Given the description of an element on the screen output the (x, y) to click on. 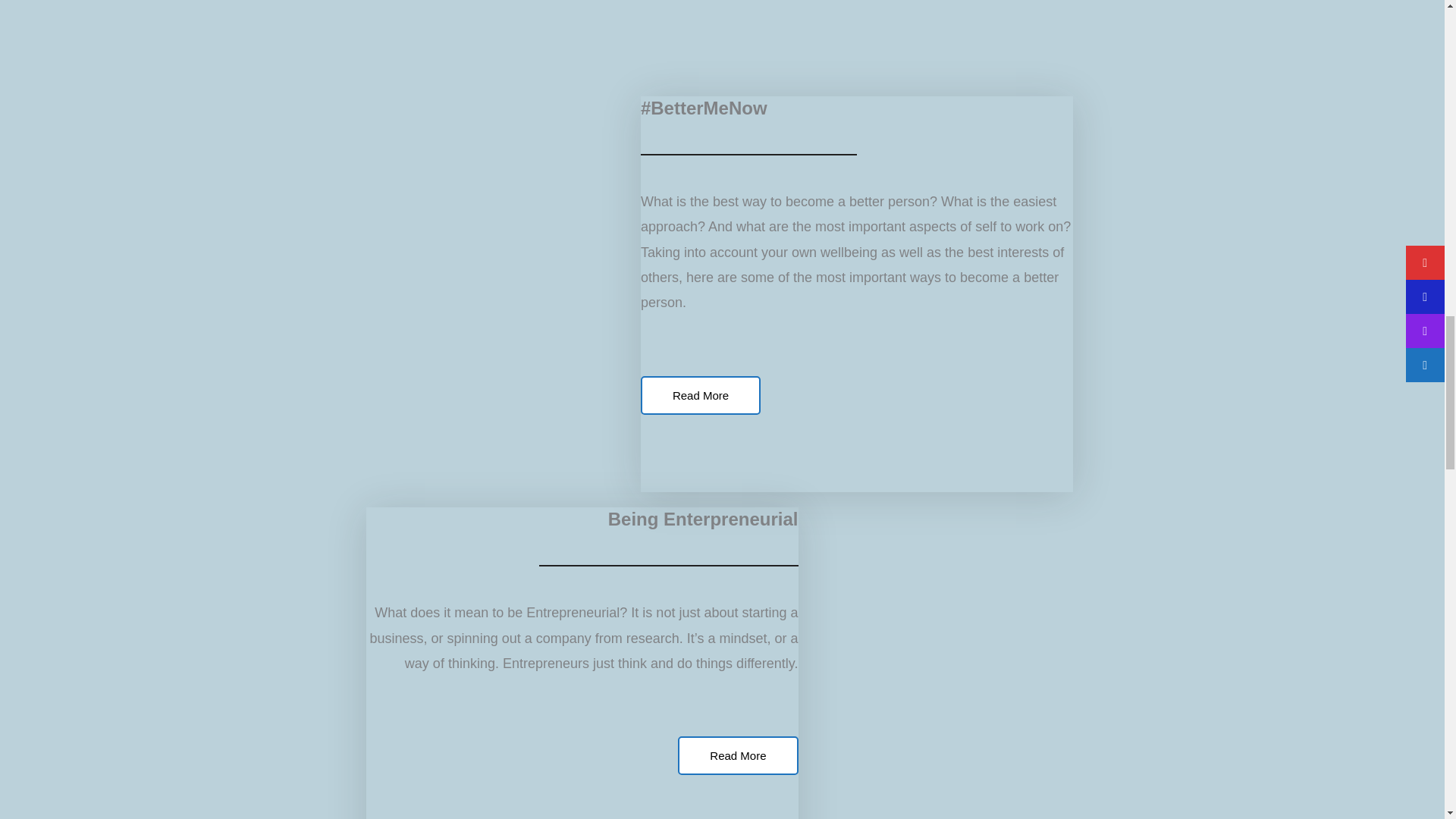
Read More (737, 755)
Read More (700, 394)
